Given the description of an element on the screen output the (x, y) to click on. 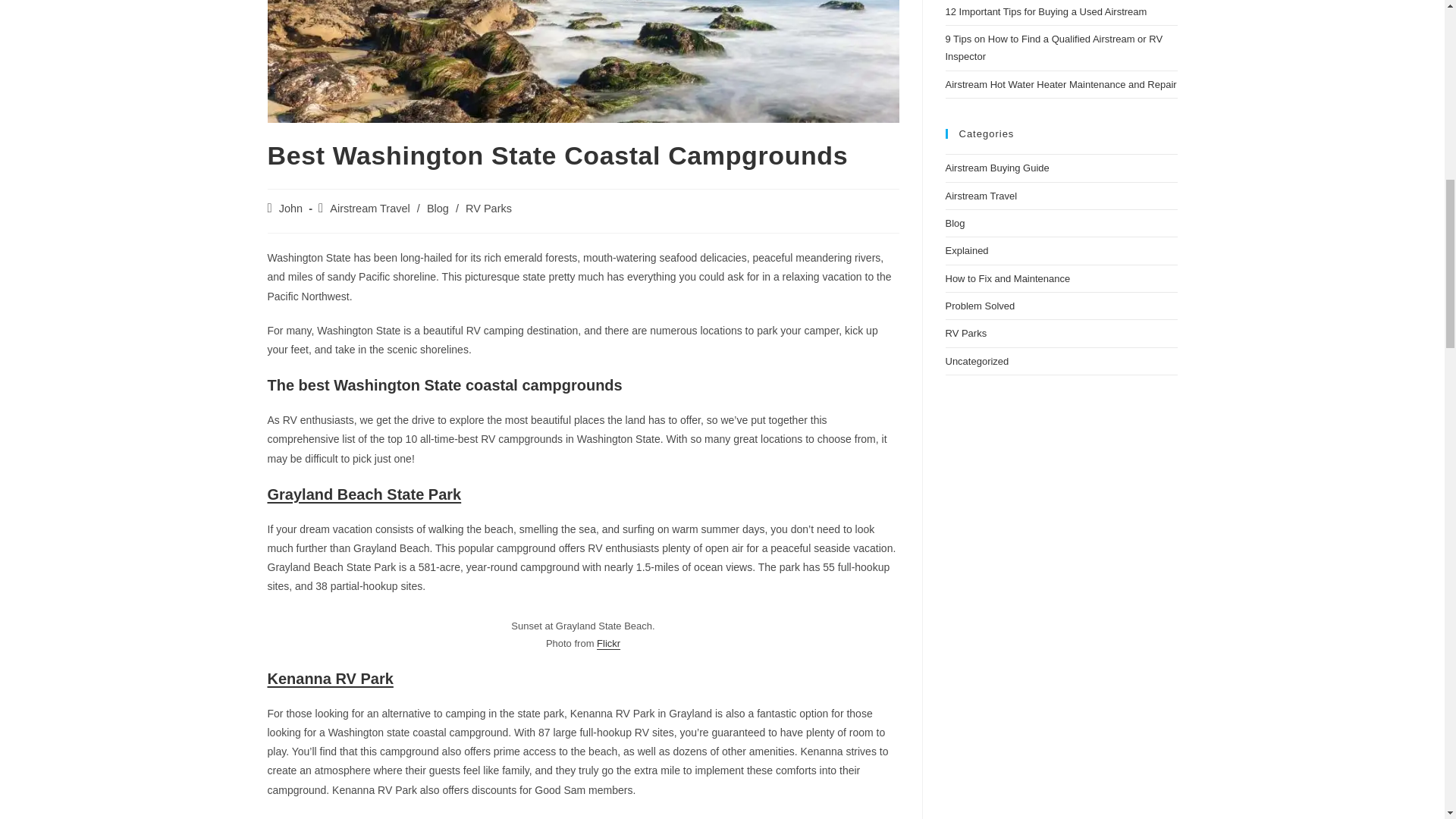
Kenanna RV Park (329, 678)
Airstream Travel (370, 208)
Blog (437, 208)
Posts by John (290, 208)
RV Parks (488, 208)
Flickr (608, 643)
John (290, 208)
Grayland Beach State Park (363, 494)
